Given the description of an element on the screen output the (x, y) to click on. 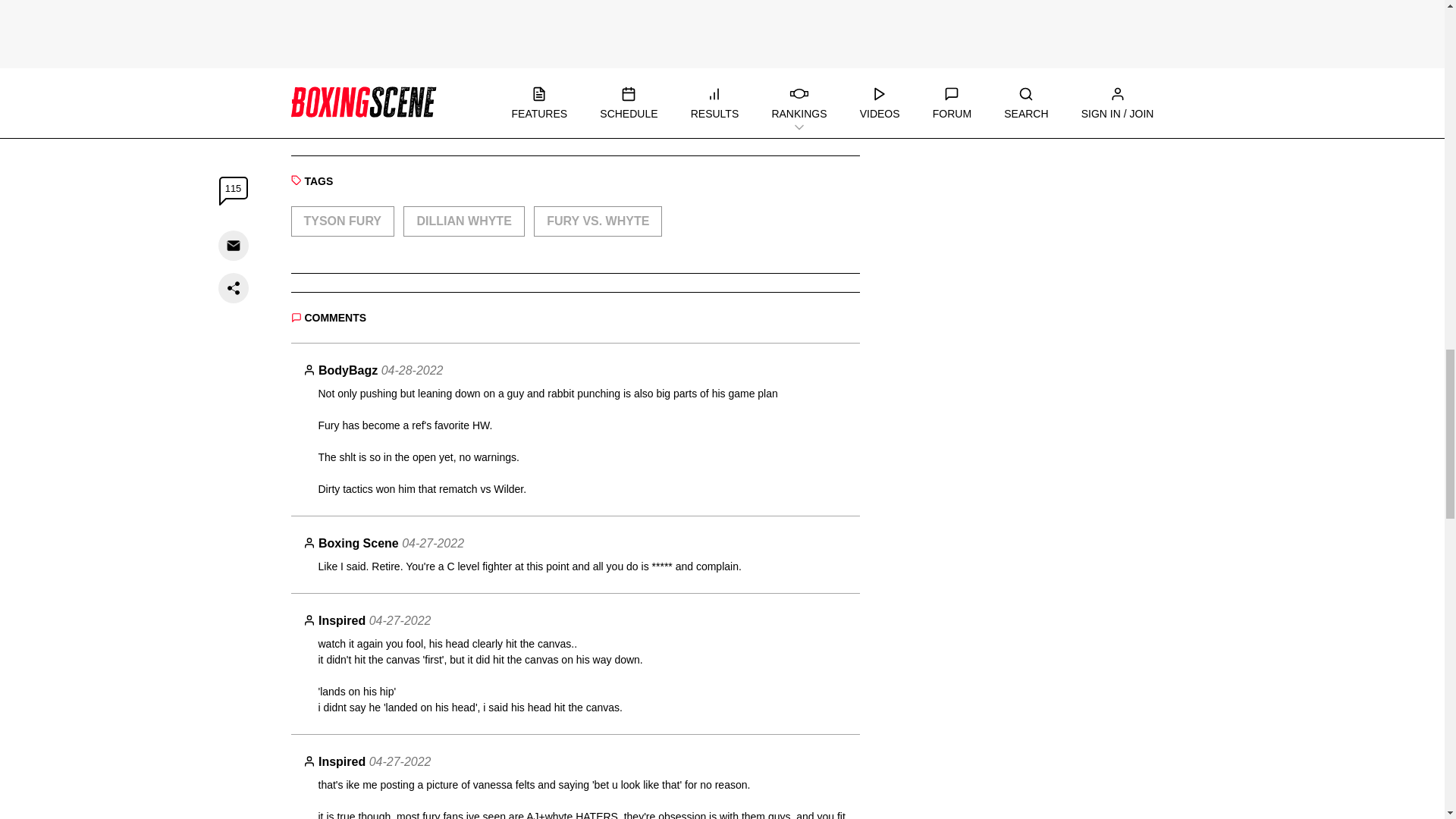
Boxing Scene (358, 543)
Inspired (341, 761)
Inspired (341, 620)
DILLIAN WHYTE (463, 221)
TYSON FURY (342, 221)
BodyBagz (347, 369)
FURY VS. WHYTE (598, 221)
